Given the description of an element on the screen output the (x, y) to click on. 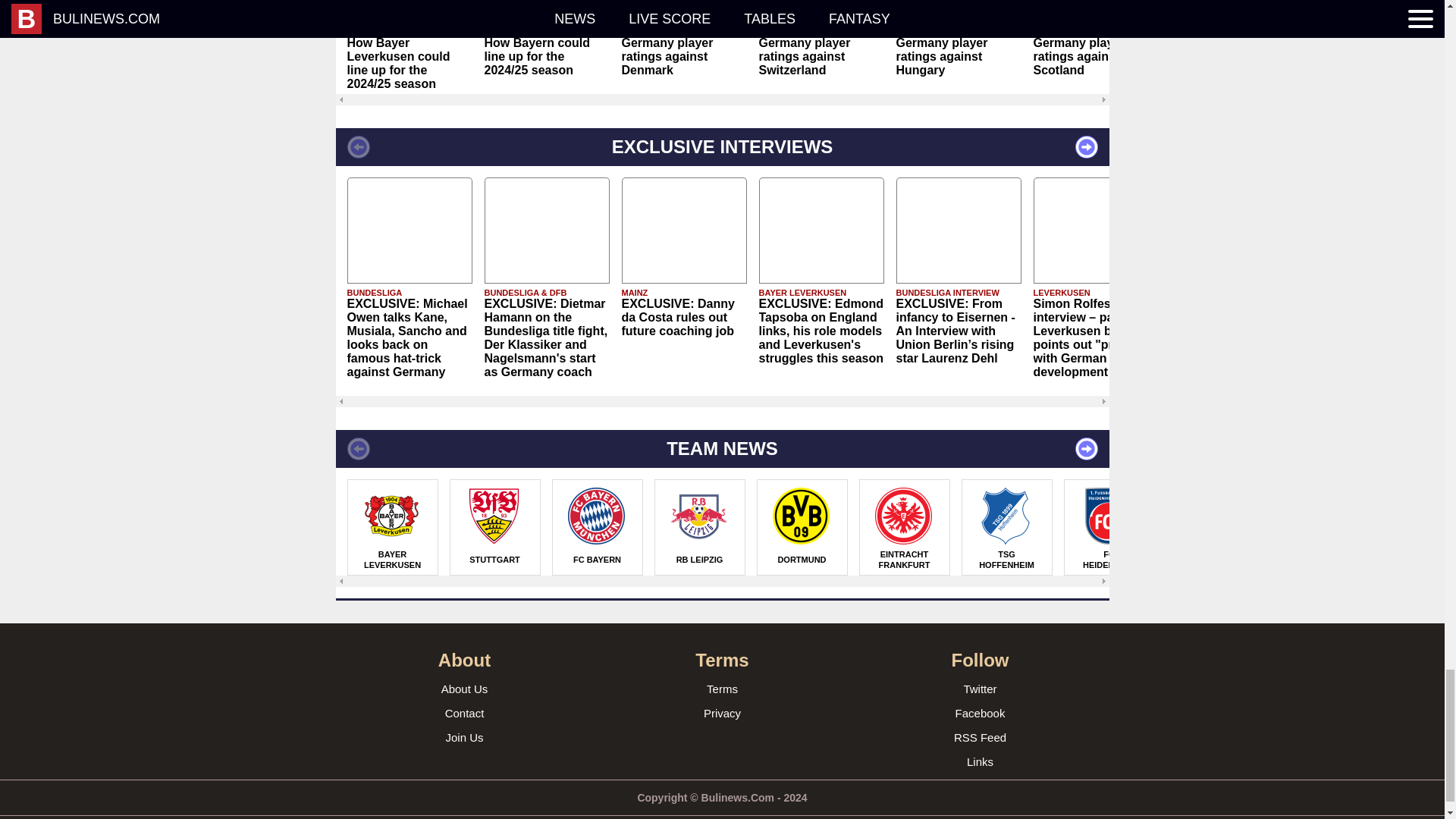
TEAM NEWS (721, 448)
EXCLUSIVE INTERVIEWS (721, 146)
